Given the description of an element on the screen output the (x, y) to click on. 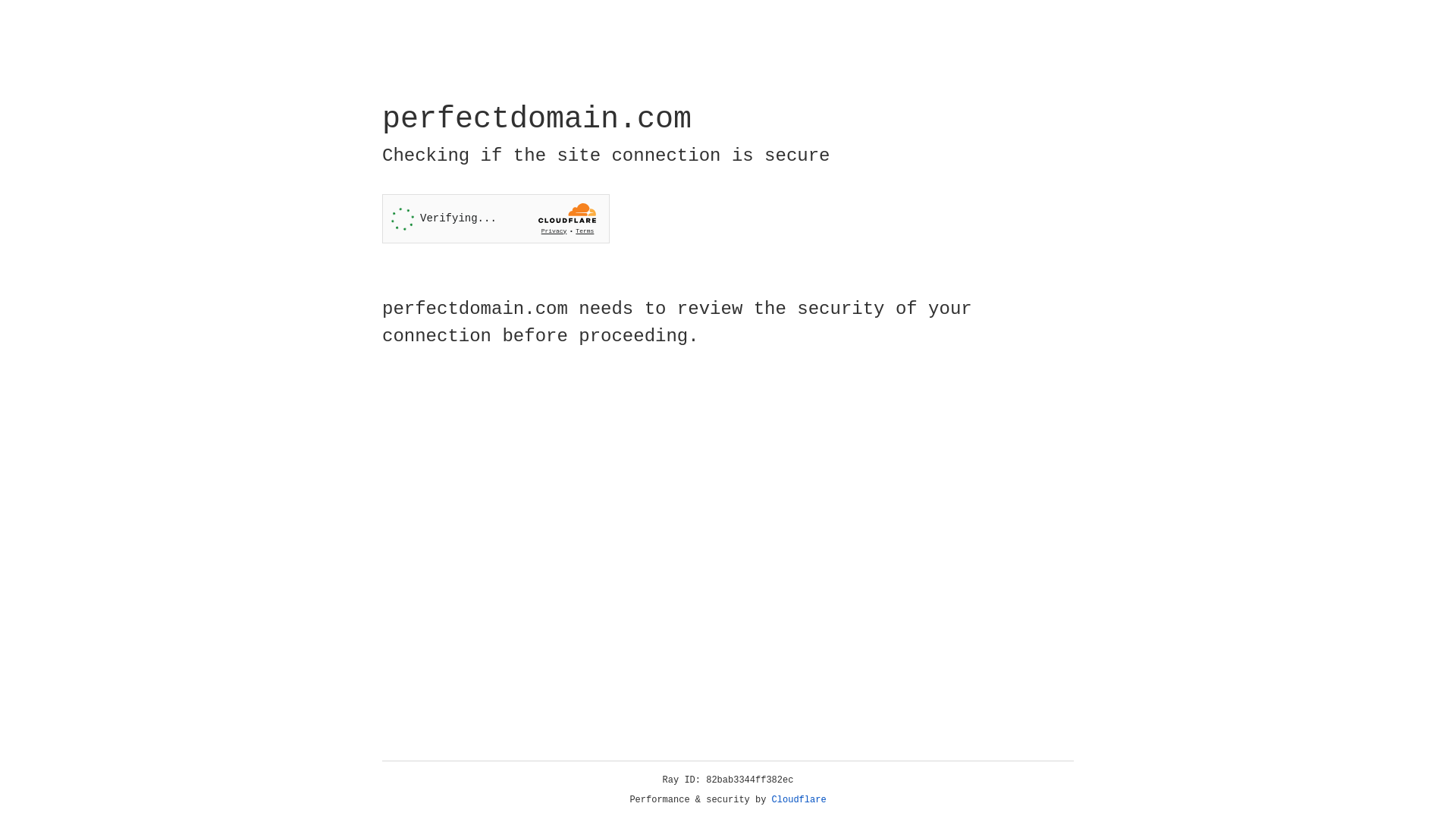
Cloudflare Element type: text (798, 799)
Widget containing a Cloudflare security challenge Element type: hover (495, 218)
